Given the description of an element on the screen output the (x, y) to click on. 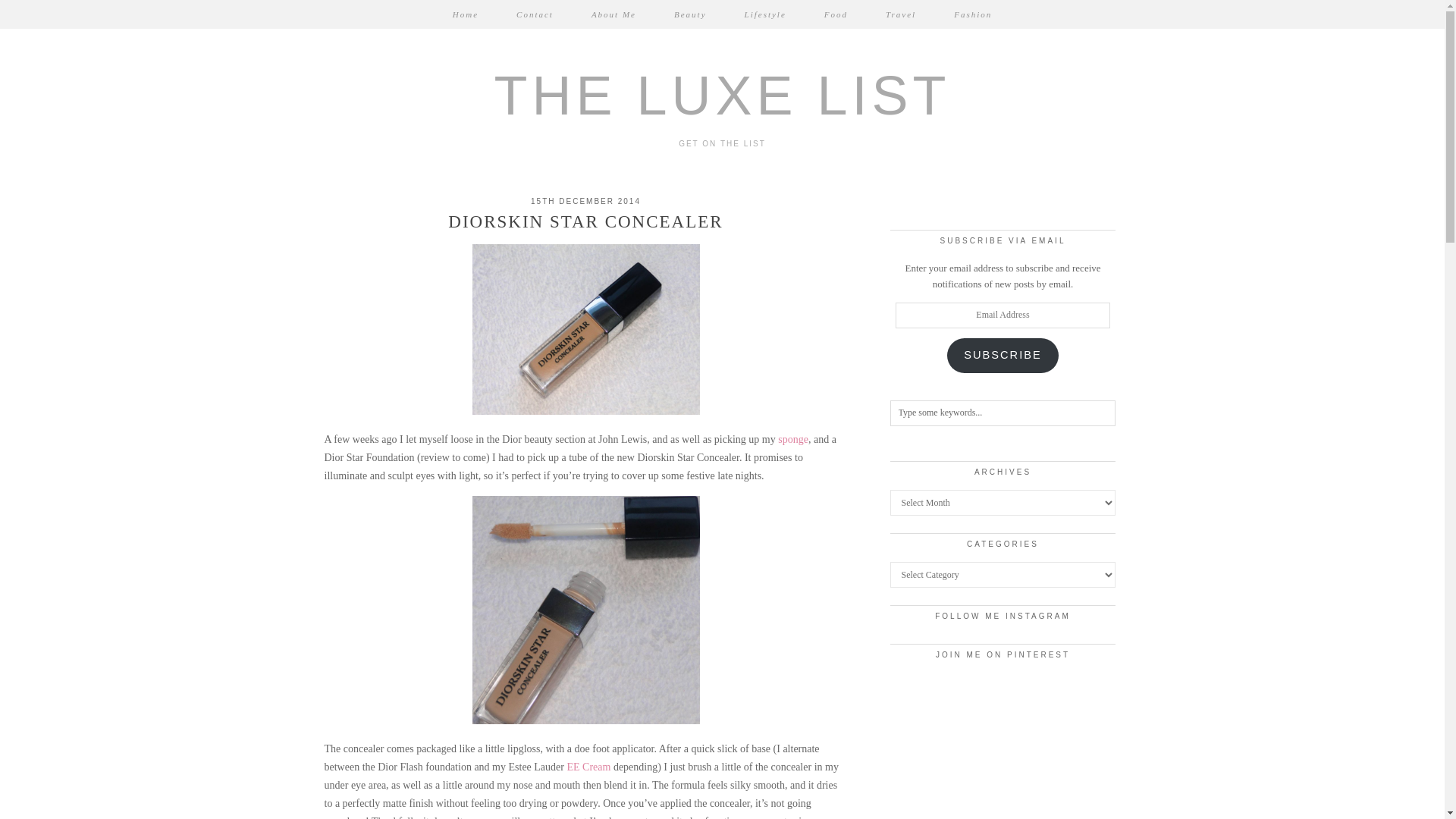
Food (835, 14)
Contact (534, 14)
EE Cream (588, 767)
Beauty (690, 14)
The Luxe List (721, 95)
Travel (900, 14)
sponge (792, 439)
Fashion (972, 14)
About Me (613, 14)
THE LUXE LIST (721, 95)
Home (465, 14)
Lifestyle (765, 14)
